Given the description of an element on the screen output the (x, y) to click on. 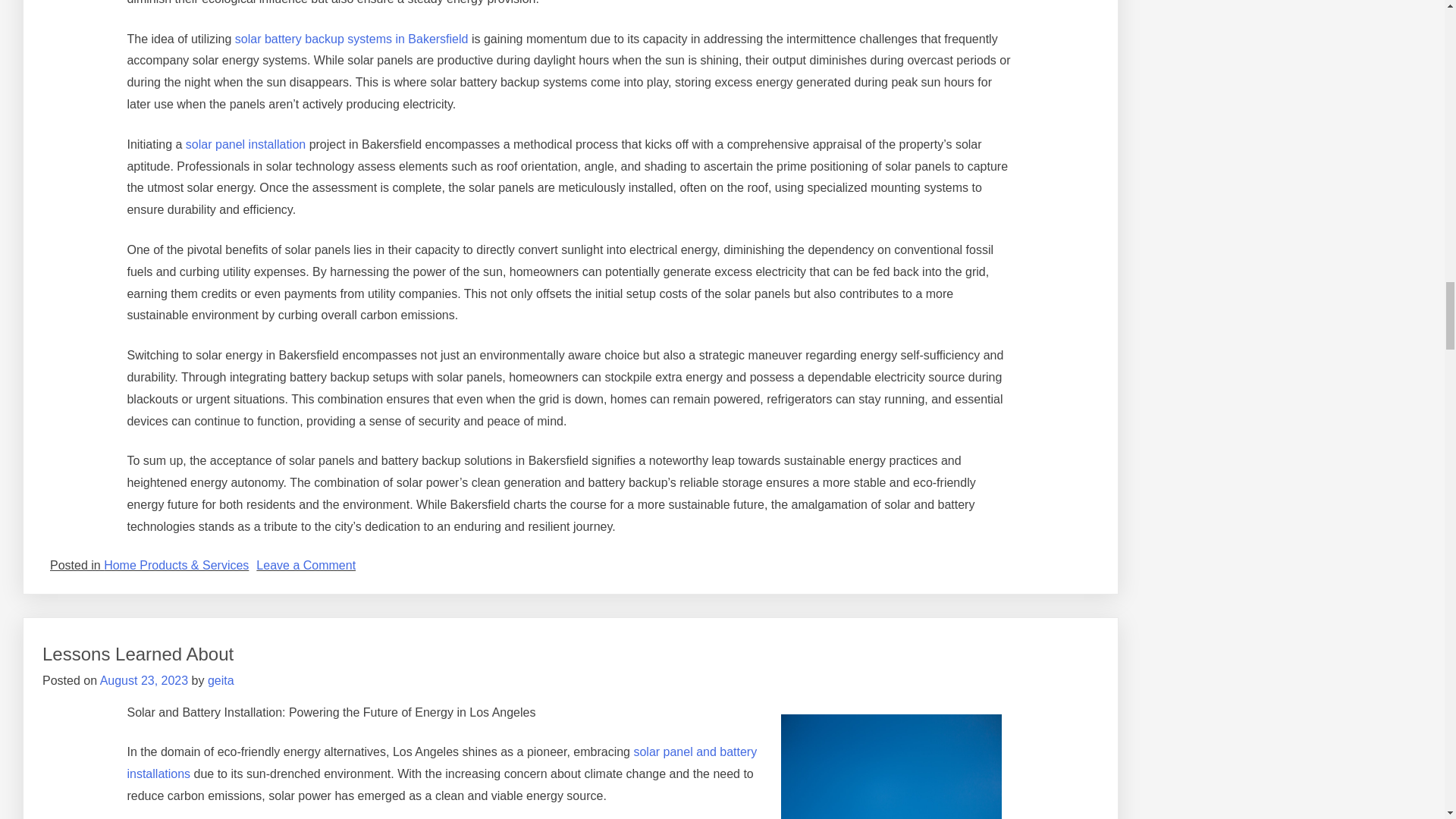
August 23, 2023 (144, 680)
solar panel and battery installations (441, 762)
geita (305, 564)
Lessons Learned About (221, 680)
solar battery backup systems in Bakersfield (137, 653)
solar panel installation (351, 38)
